Given the description of an element on the screen output the (x, y) to click on. 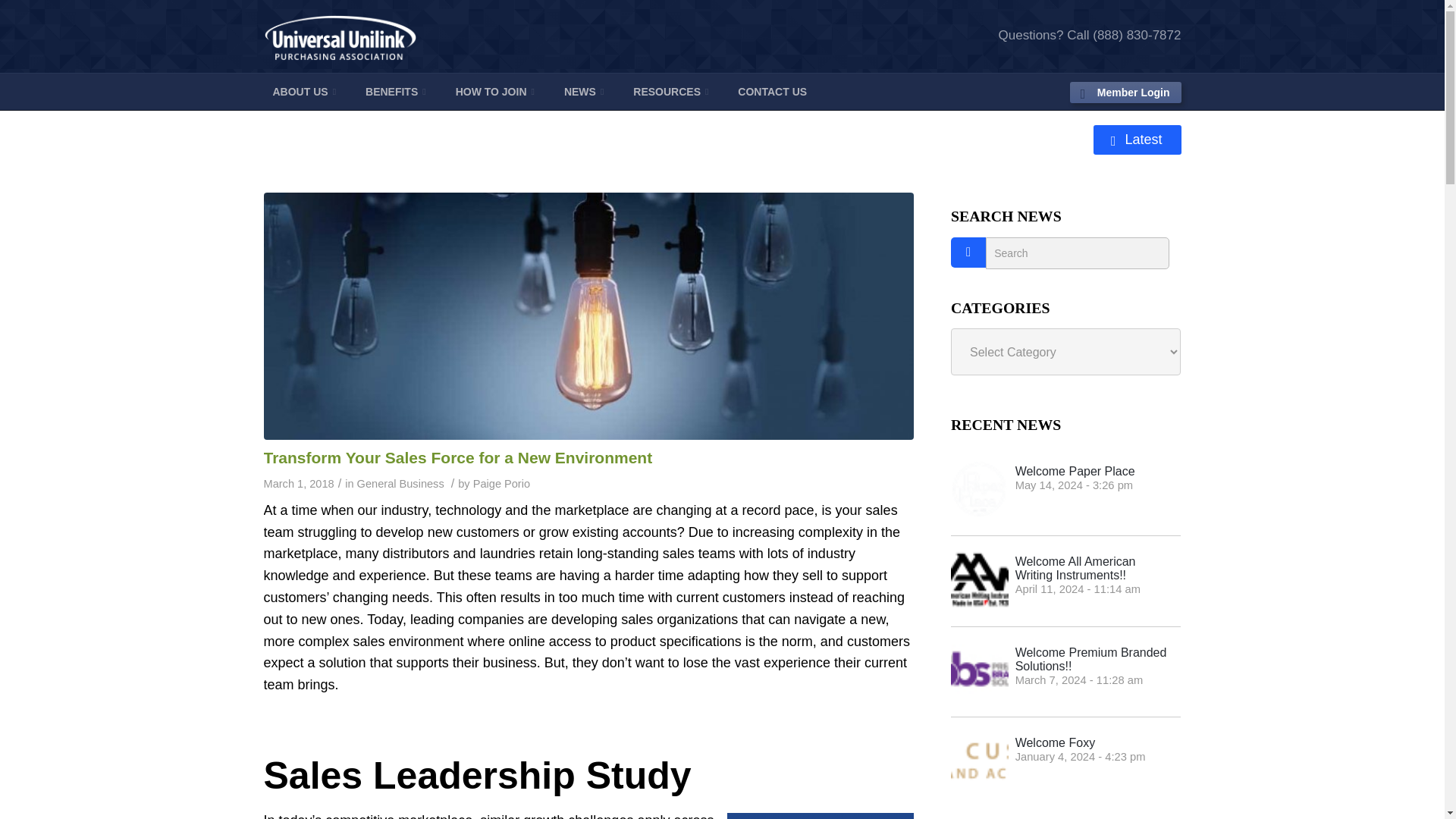
General Business (400, 483)
BENEFITS (395, 91)
NEWS (583, 91)
Posts by Paige Porio (501, 483)
Paige Porio (501, 483)
Latest (1136, 139)
CONTACT US (772, 91)
ABOUT US (304, 91)
